Given the description of an element on the screen output the (x, y) to click on. 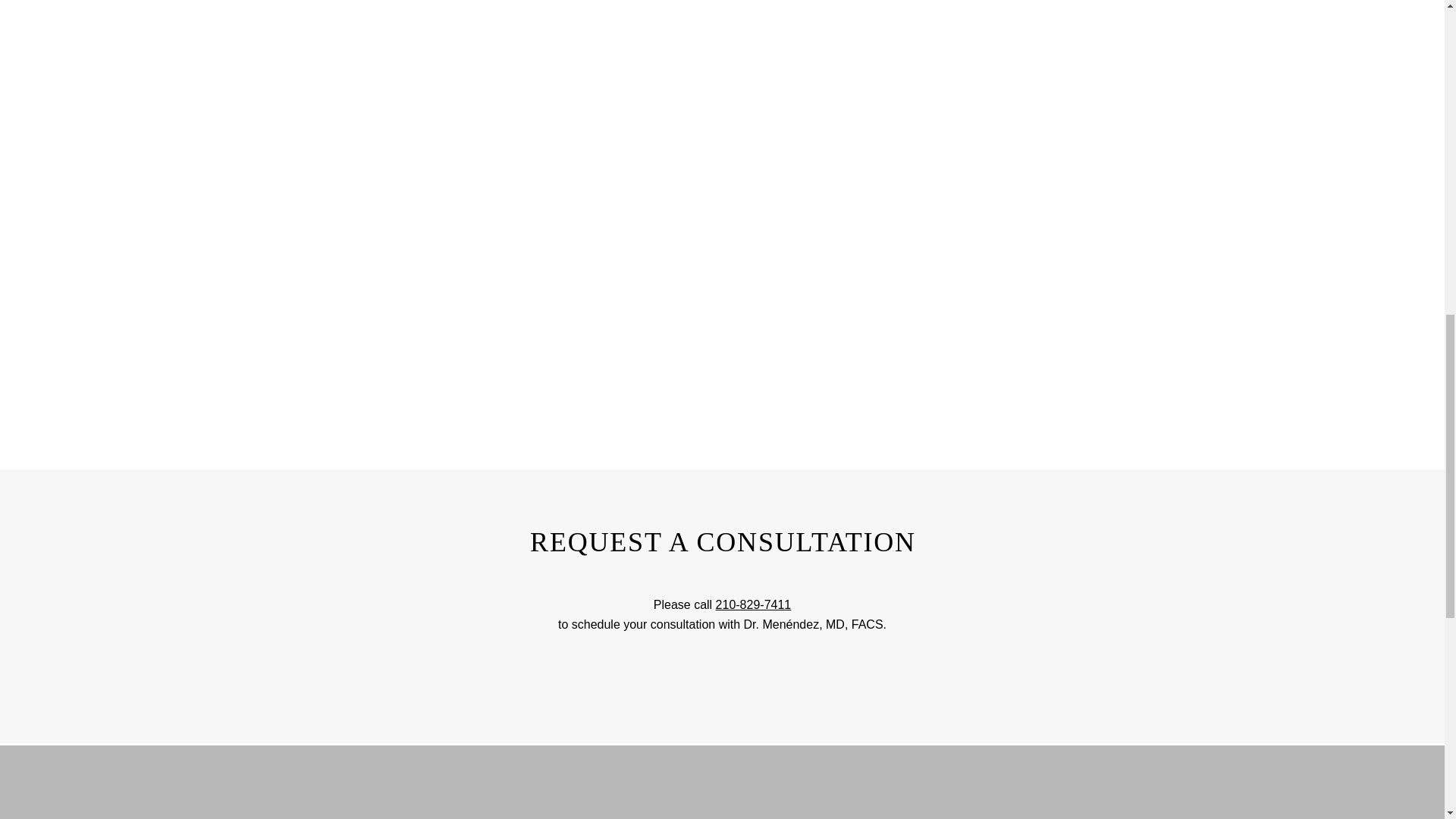
210-829-7411 (754, 604)
